Given the description of an element on the screen output the (x, y) to click on. 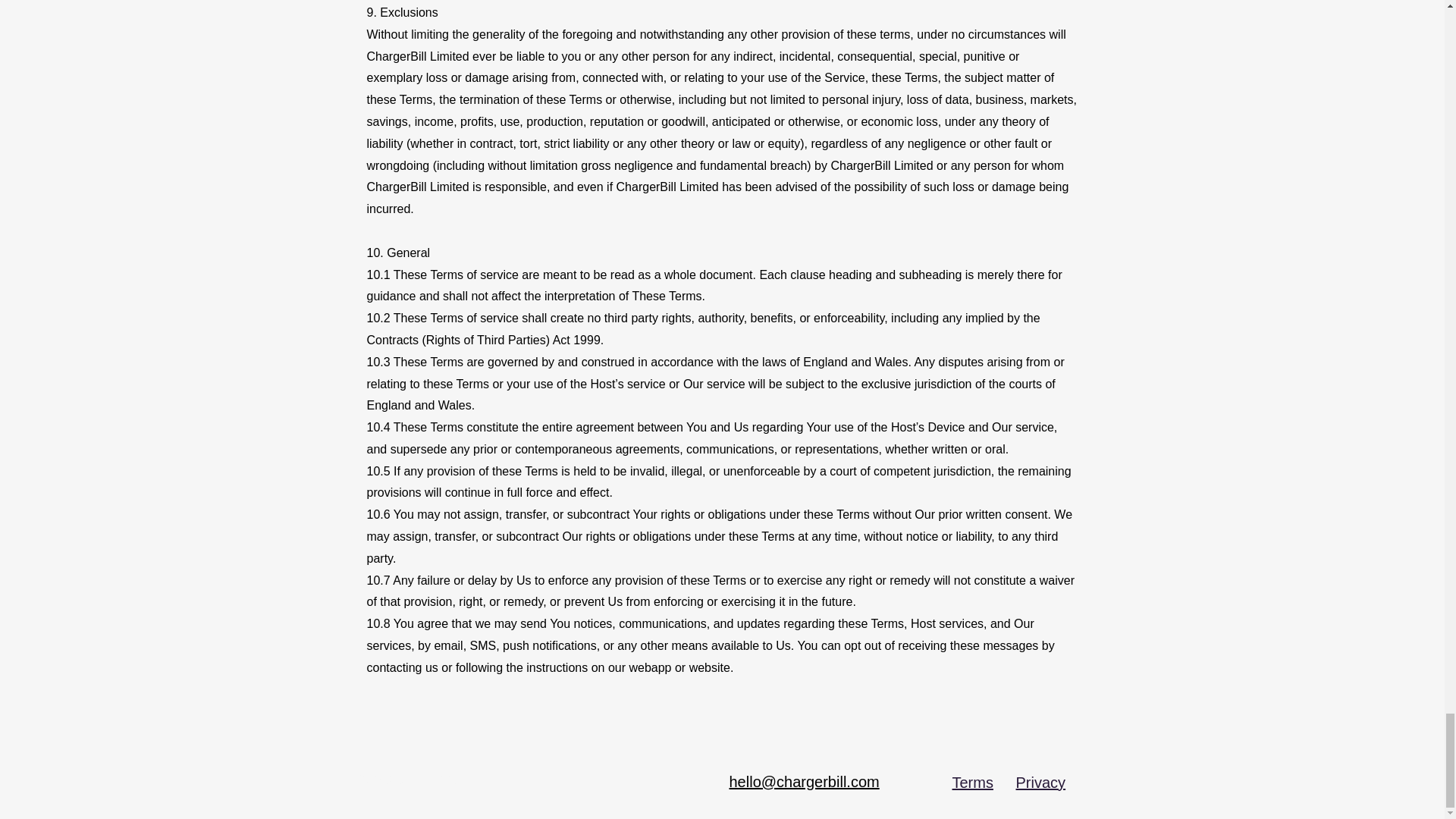
Privacy (1040, 782)
Terms (972, 782)
